Given the description of an element on the screen output the (x, y) to click on. 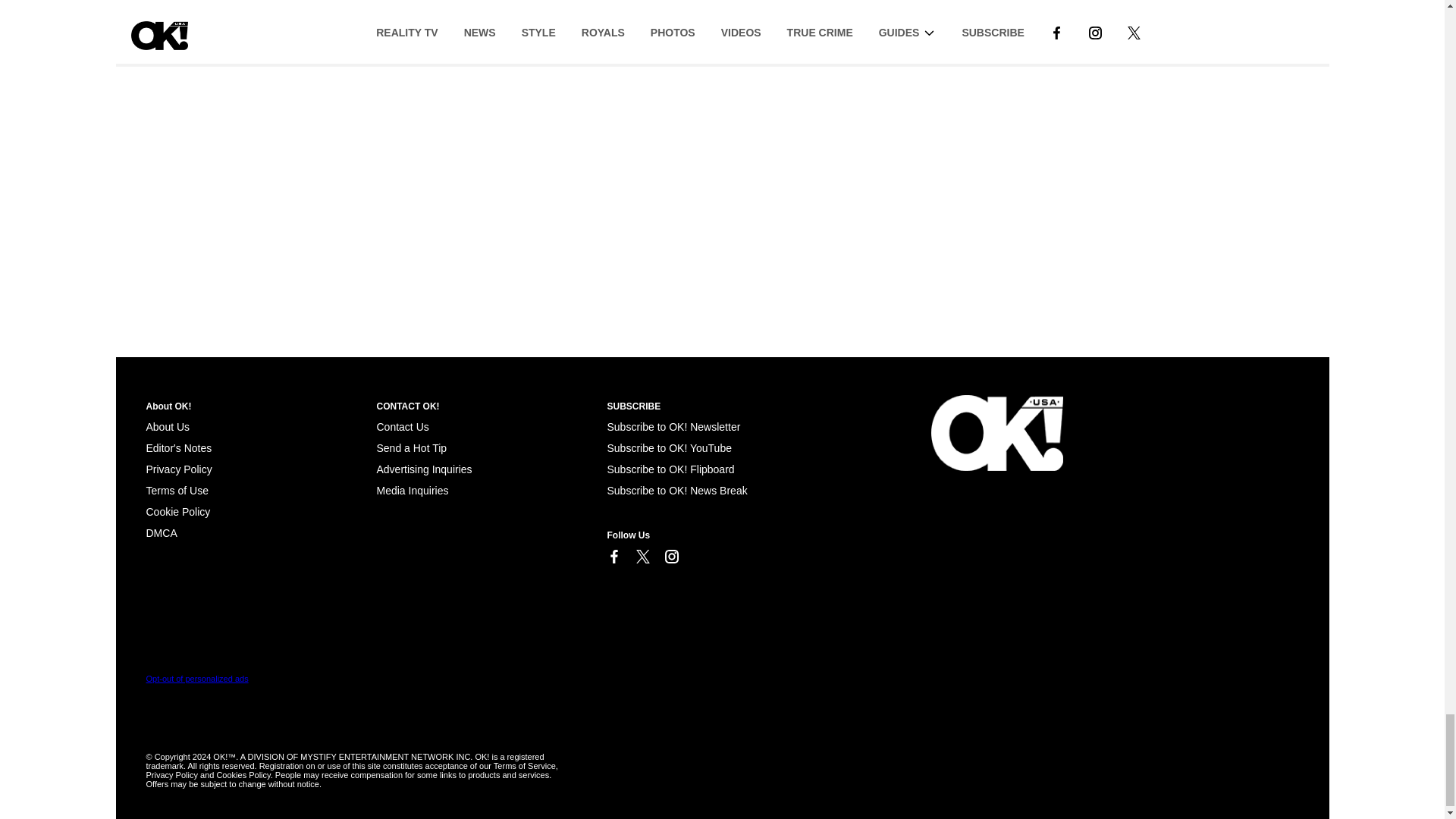
Send a Hot Tip (410, 448)
Link to Facebook (613, 556)
Terms of Use (176, 490)
Editor's Notes (178, 448)
Cookie Policy (177, 511)
Contact Us (401, 426)
Cookie Policy (160, 532)
Link to Instagram (670, 556)
Link to X (641, 556)
About Us (167, 426)
